Given the description of an element on the screen output the (x, y) to click on. 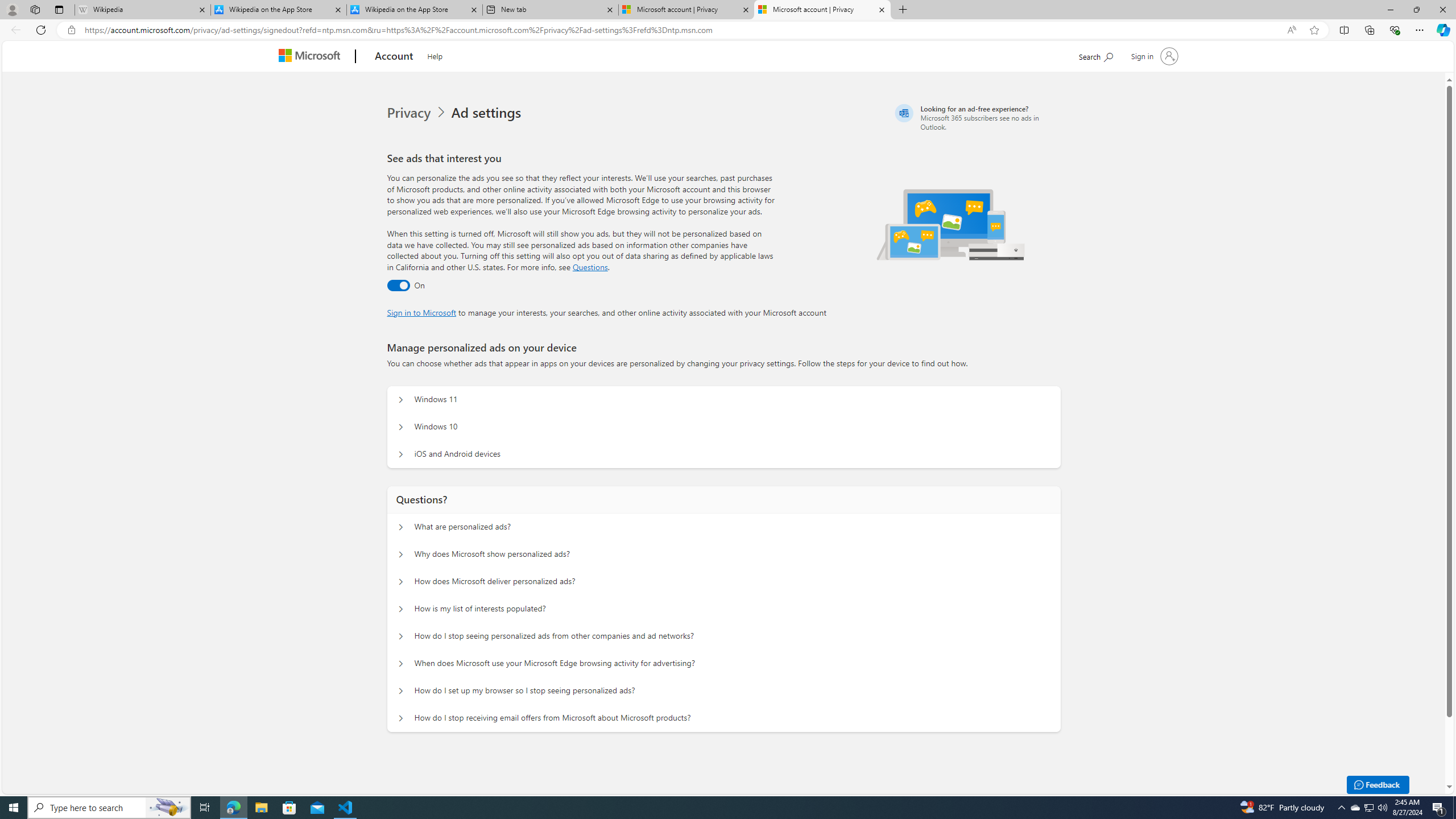
Manage personalized ads on your device Windows 11 (401, 400)
Ad settings (488, 112)
Search Microsoft.com (1095, 54)
Questions? Why does Microsoft show personalized ads? (401, 554)
Illustration of multiple devices (951, 224)
Sign in to your account (1153, 55)
